Given the description of an element on the screen output the (x, y) to click on. 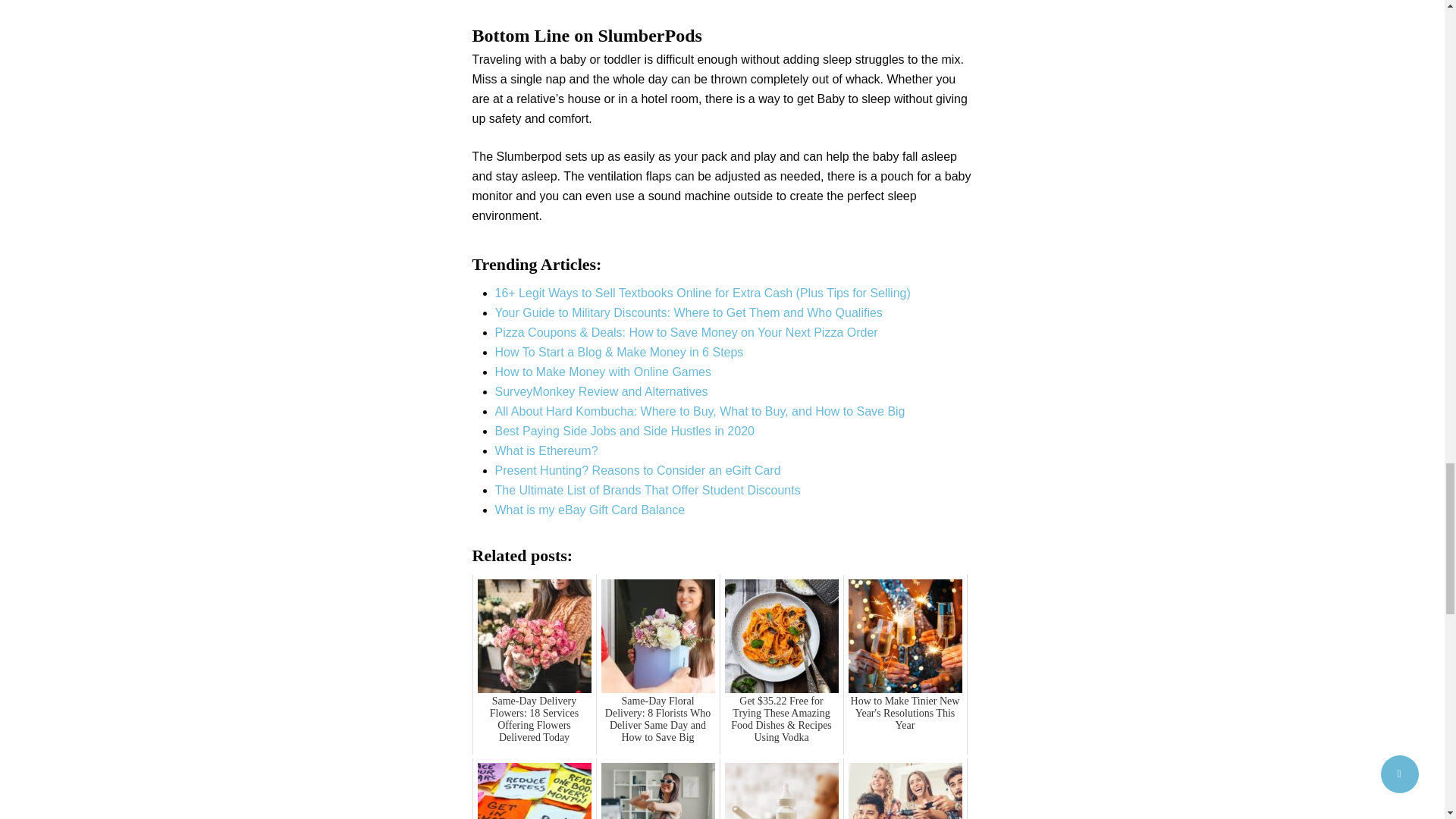
Present Hunting? Reasons to Consider an eGift Card (637, 470)
How to Make Money with Online Games (602, 371)
What is Ethereum? (545, 450)
What is TikTok? (657, 788)
History of New Year Resolutions (533, 788)
Free Baby Formula (781, 788)
The Ultimate List of Brands That Offer Student Discounts (647, 490)
Prime Gaming (905, 788)
What is my eBay Gift Card Balance (589, 509)
Best Paying Side Jobs and Side Hustles in 2020 (624, 431)
SurveyMonkey Review and Alternatives (601, 391)
